Given the description of an element on the screen output the (x, y) to click on. 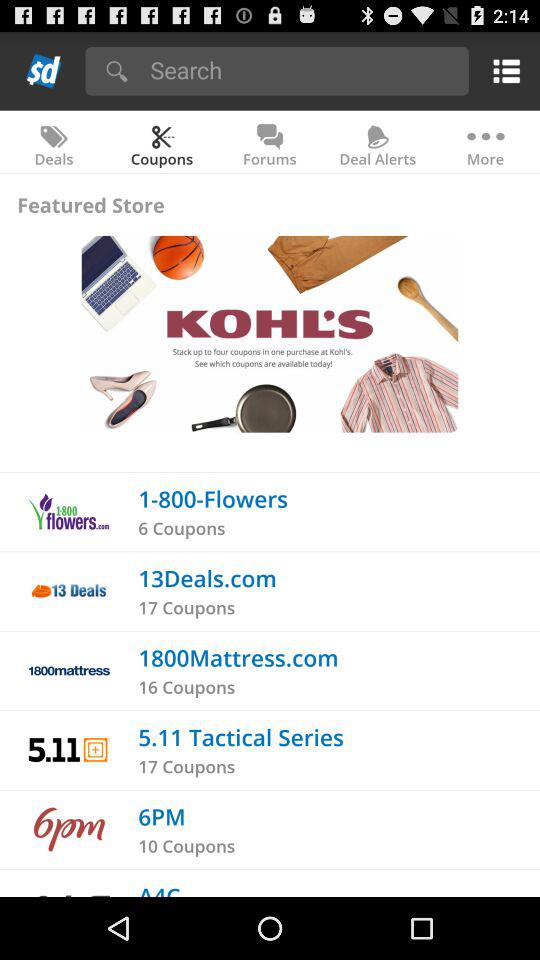
click icon above 6 coupons item (213, 498)
